Given the description of an element on the screen output the (x, y) to click on. 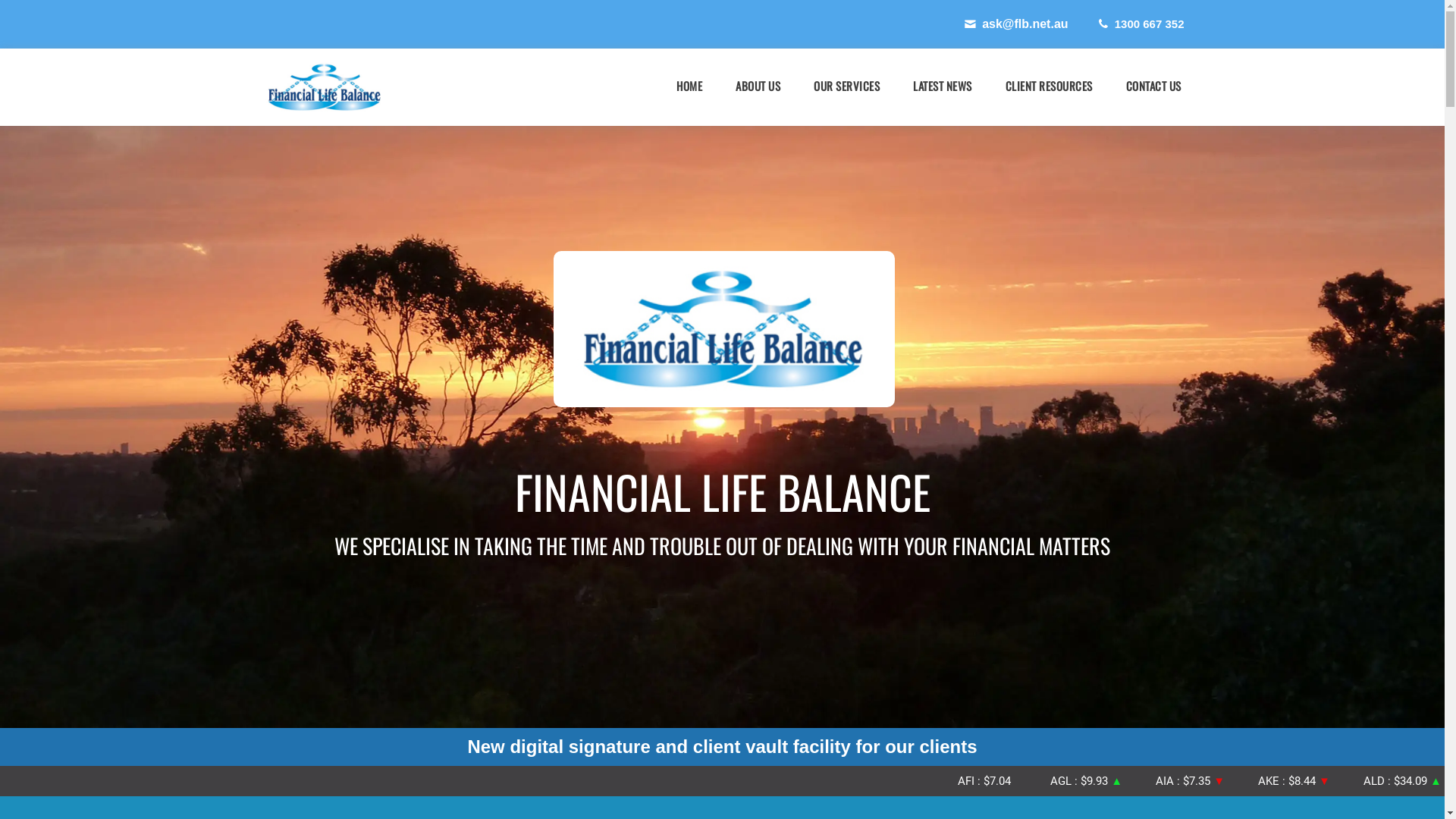
ABOUT US Element type: text (757, 85)
OUR SERVICES Element type: text (846, 85)
1300 667 352 Element type: text (1139, 24)
HOME Element type: text (689, 85)
CLIENT RESOURCES Element type: text (1048, 85)
AFI : $7.04   Element type: text (1260, 780)
LATEST NEWS Element type: text (942, 85)
ask@flb.net.au Element type: text (1014, 24)
CONTACT US Element type: text (1152, 85)
